Given the description of an element on the screen output the (x, y) to click on. 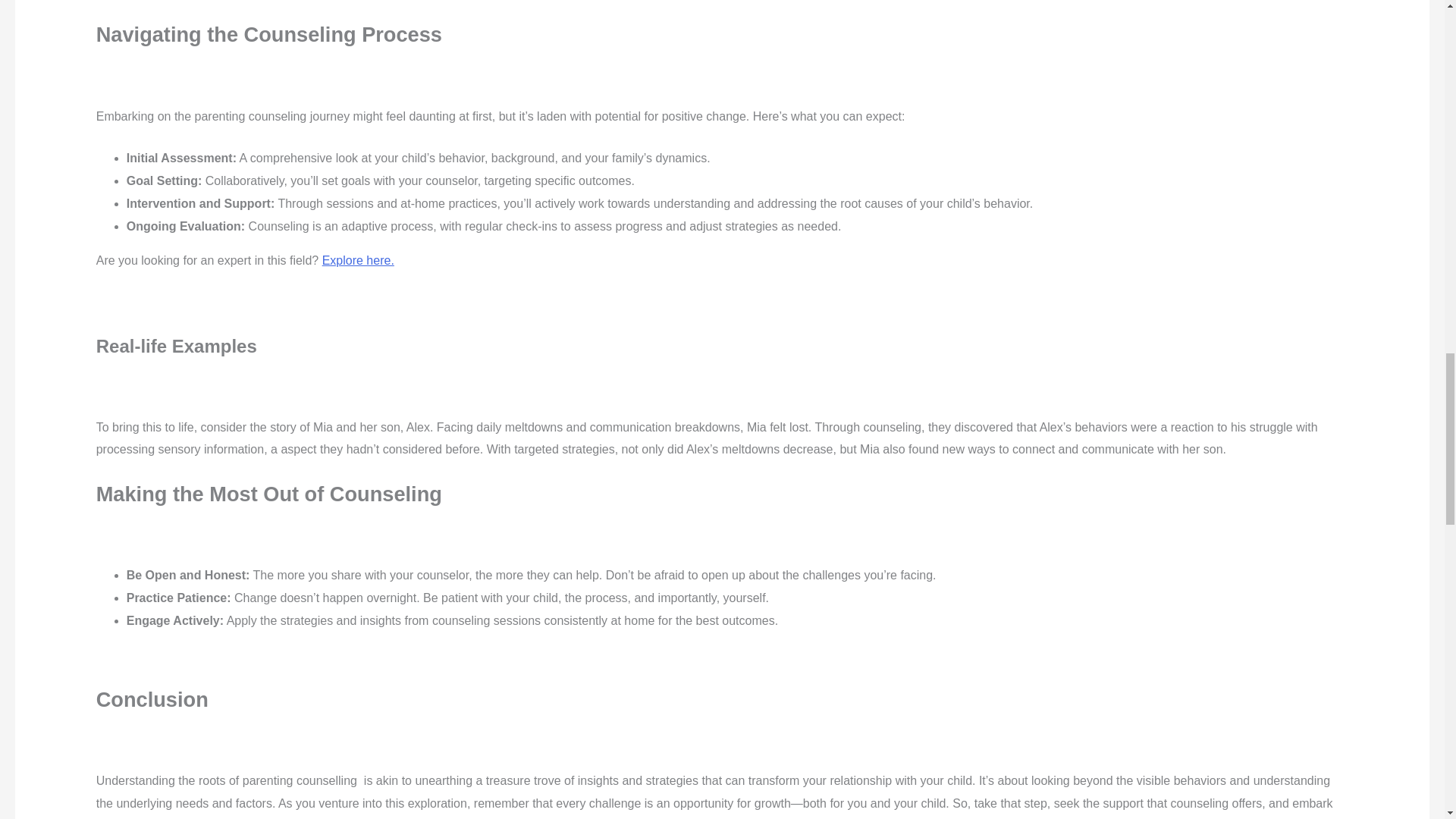
Explore here. (357, 259)
